Given the description of an element on the screen output the (x, y) to click on. 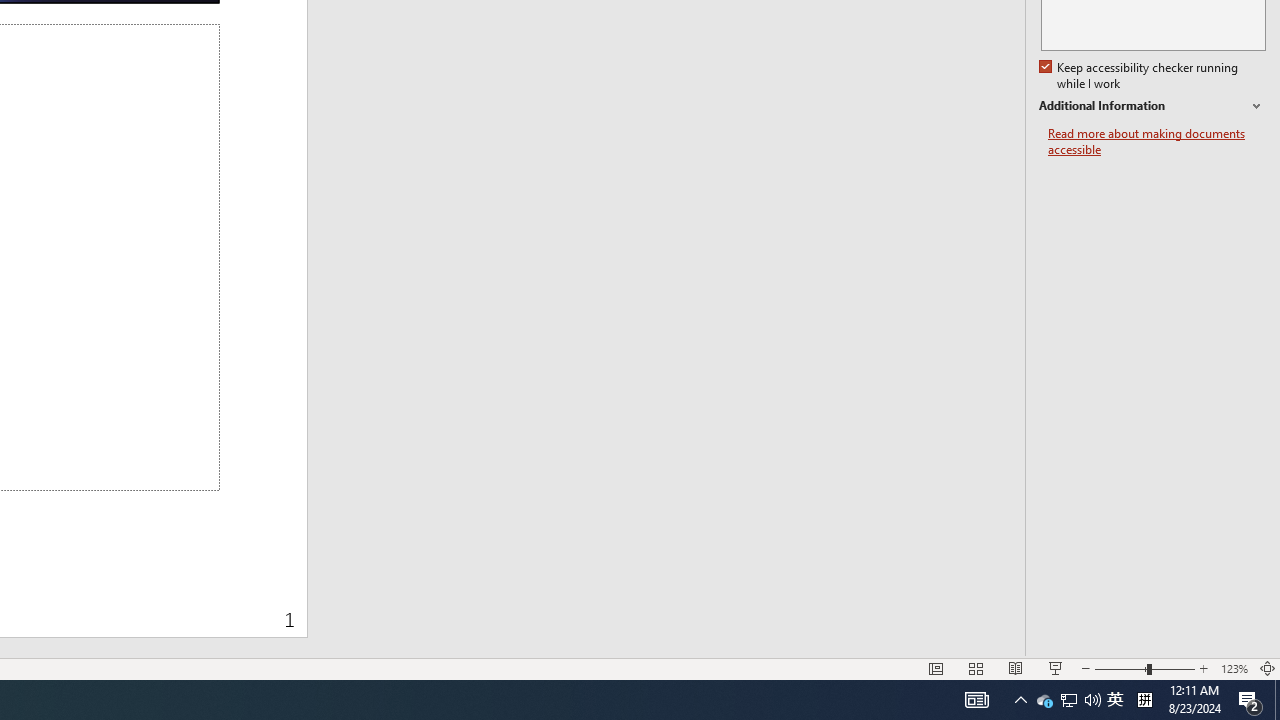
Zoom 123% (1234, 668)
